Given the description of an element on the screen output the (x, y) to click on. 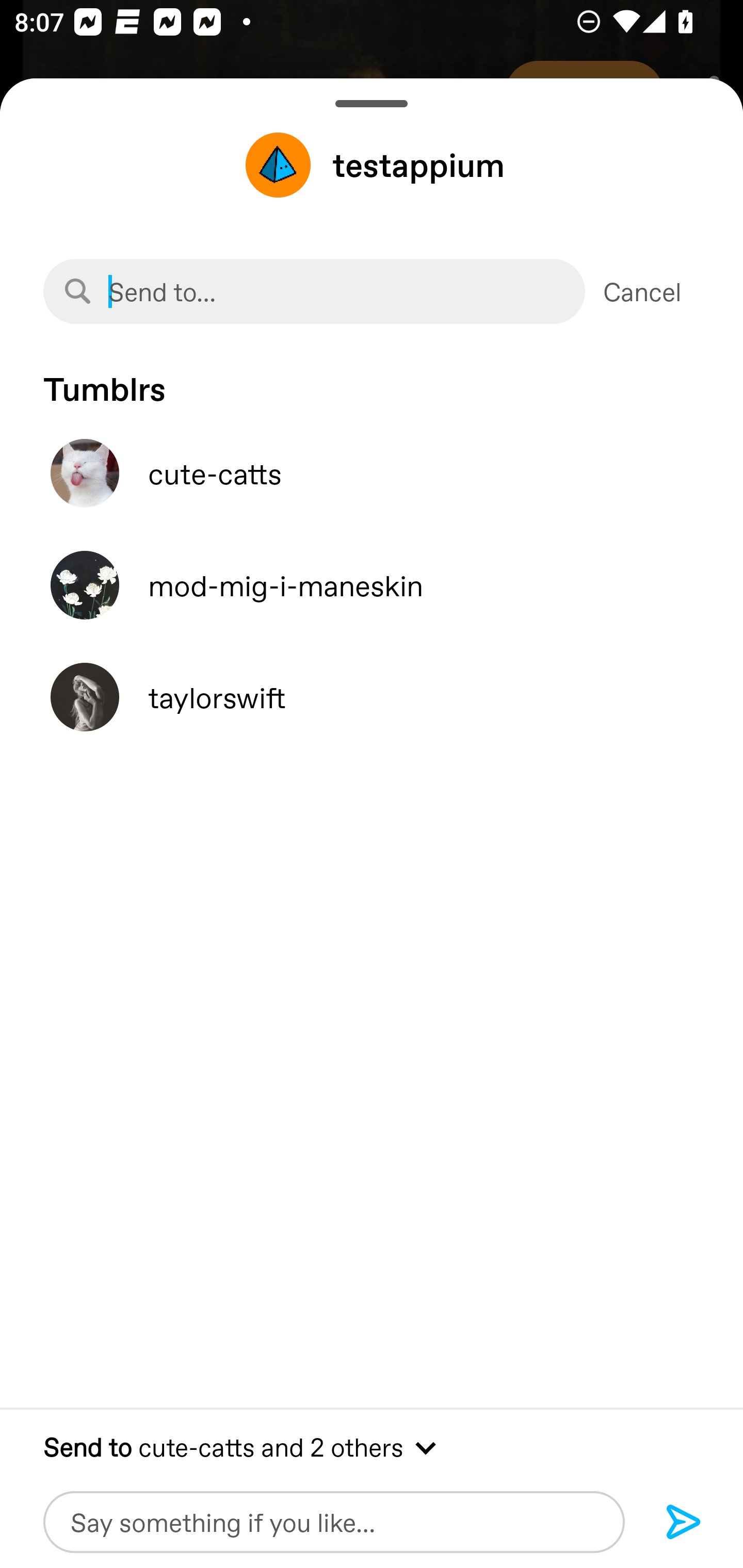
testappium (371, 164)
Cancel (642, 291)
Send to… (314, 291)
Tumblrs (371, 379)
cute-catts (371, 473)
mod-mig-i-maneskin (371, 585)
taylorswift (371, 696)
Send to cute-catts and 2 others (371, 1446)
Send (683, 1522)
Say something if you like… (333, 1521)
